Given the description of an element on the screen output the (x, y) to click on. 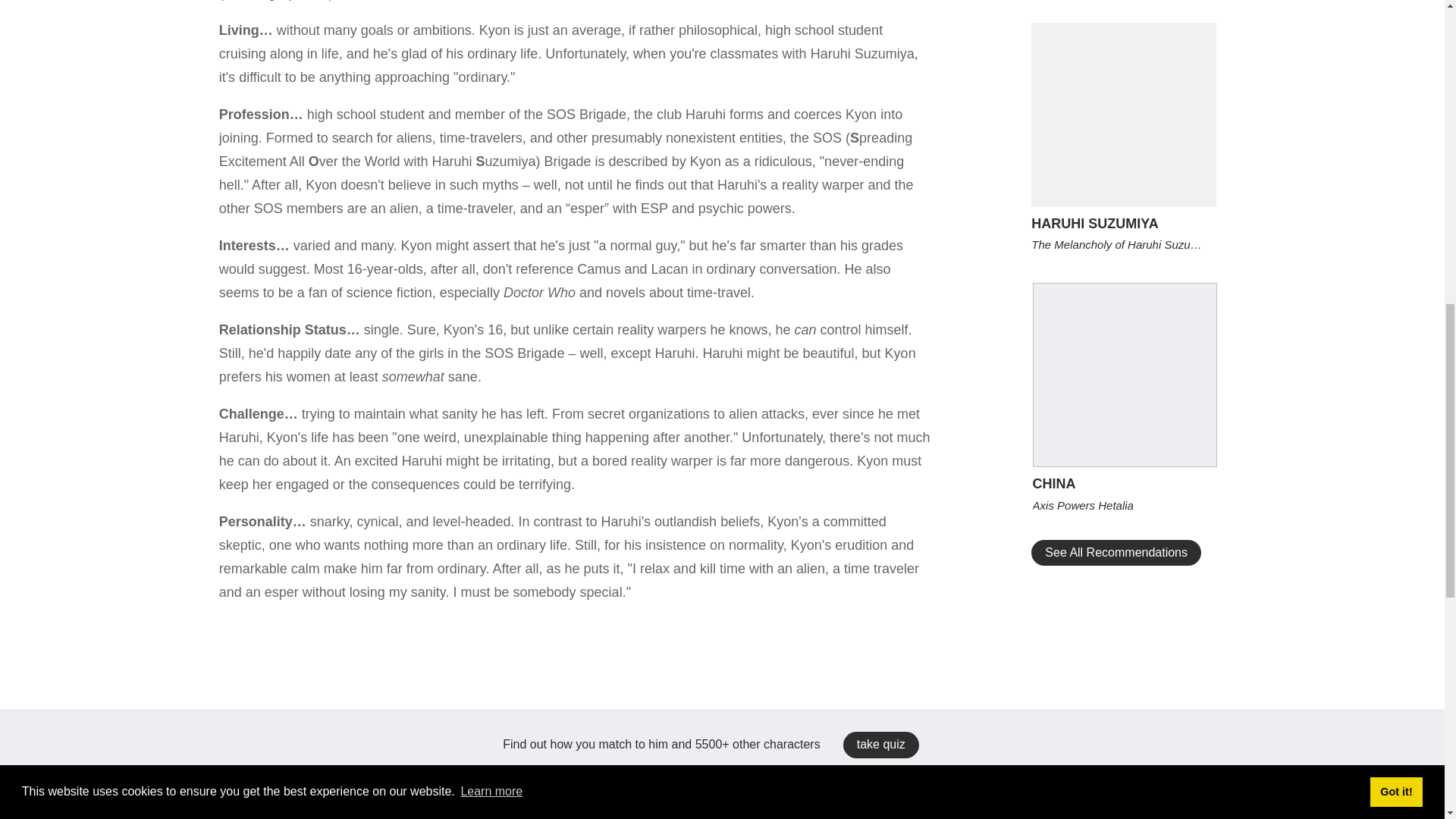
GET STARTED (722, 245)
The Melancholy of Haruhi Suzumiya (1122, 244)
Axis Powers Hetalia (1124, 505)
Learn More about CharacTour (722, 278)
HARUHI SUZUMIYA (1122, 223)
sign in (505, 94)
take quiz (880, 744)
CHINA (1124, 484)
See All Recommendations (1115, 552)
